Given the description of an element on the screen output the (x, y) to click on. 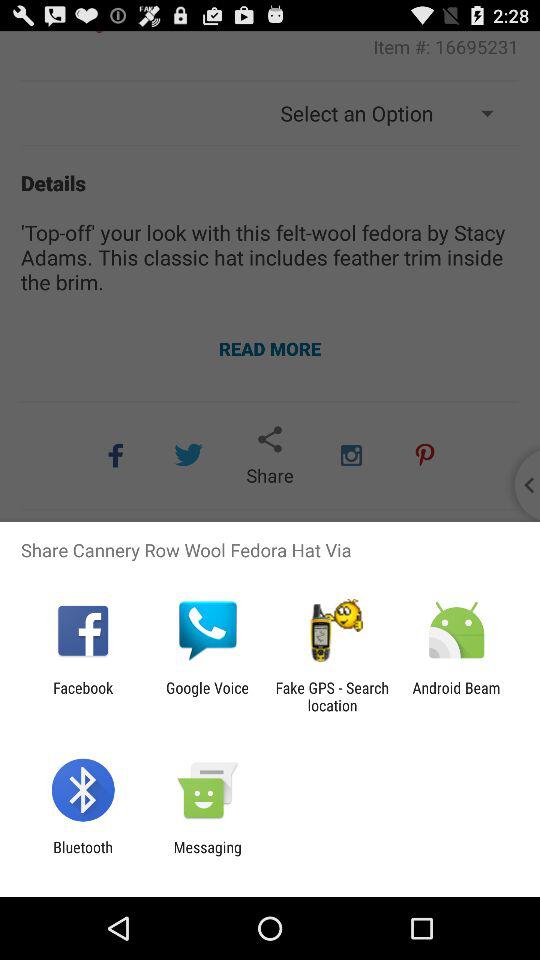
select the icon to the left of the android beam item (332, 696)
